Given the description of an element on the screen output the (x, y) to click on. 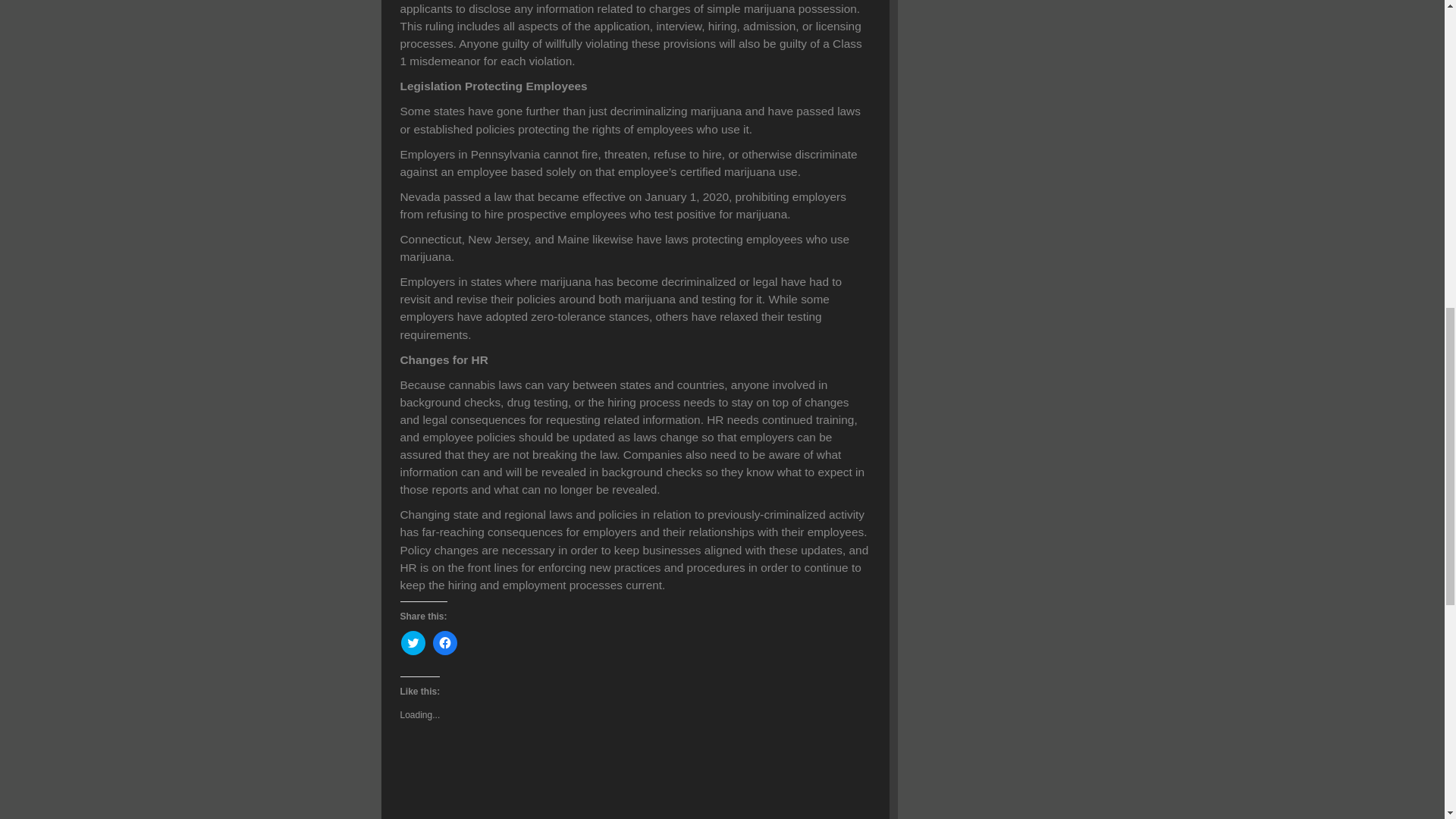
Like or Reblog (635, 769)
Click to share on Twitter (412, 642)
Click to share on Facebook (444, 642)
